Given the description of an element on the screen output the (x, y) to click on. 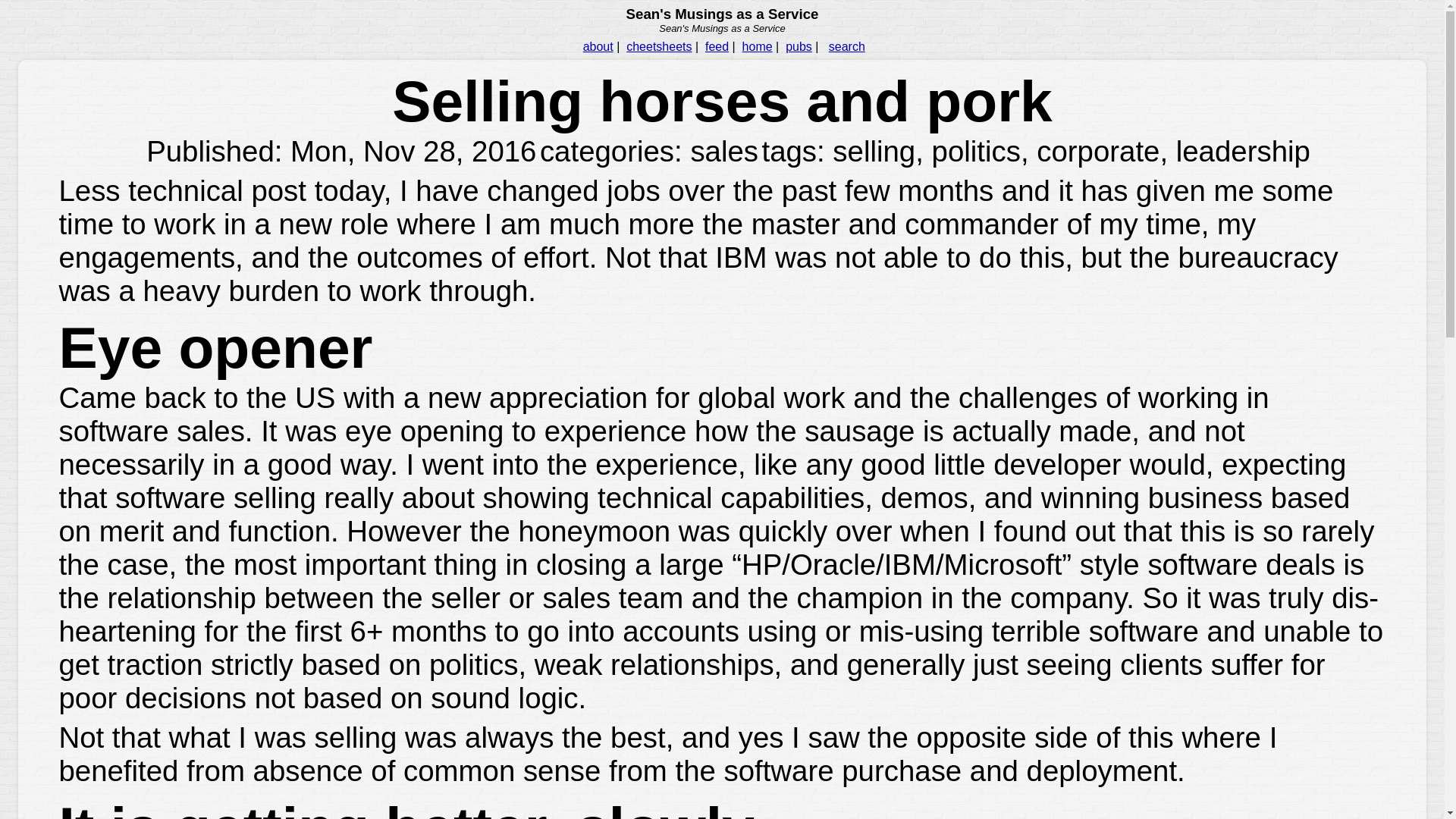
pubs (799, 46)
about (597, 46)
cheetsheets (658, 46)
search (846, 46)
Toggle Search View (846, 46)
feed (716, 46)
home (757, 46)
